Given the description of an element on the screen output the (x, y) to click on. 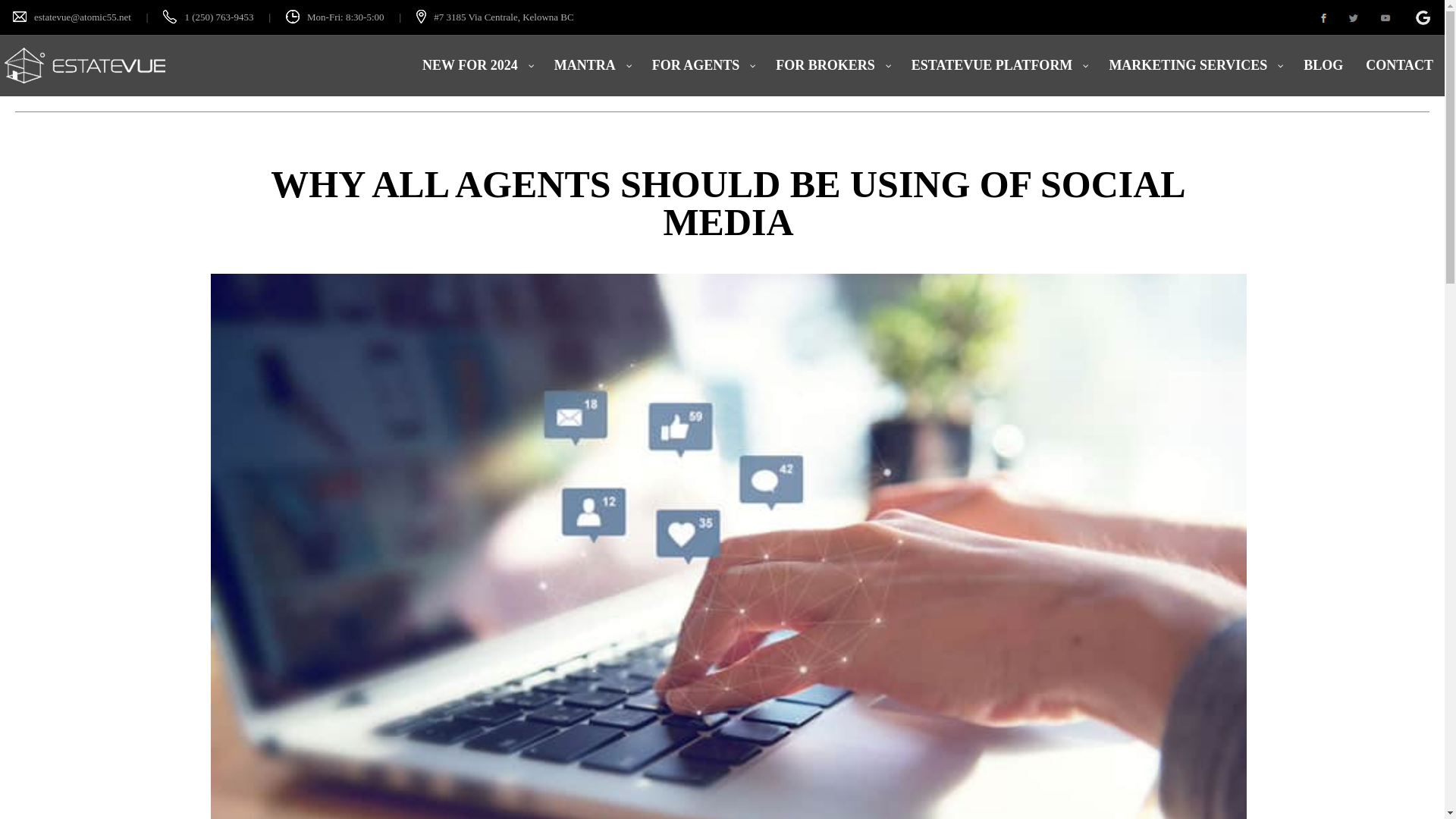
BLOG (1323, 66)
FOR AGENTS (702, 66)
Realtor Software (998, 66)
MANTRA (591, 66)
MARKETING SERVICES (1194, 66)
ESTATEVUE PLATFORM (998, 66)
Real Estate Web Design Packages (702, 66)
Real Estate Web Designer Canada (591, 66)
FOR BROKERS (831, 66)
NEW FOR 2024 (476, 66)
